Given the description of an element on the screen output the (x, y) to click on. 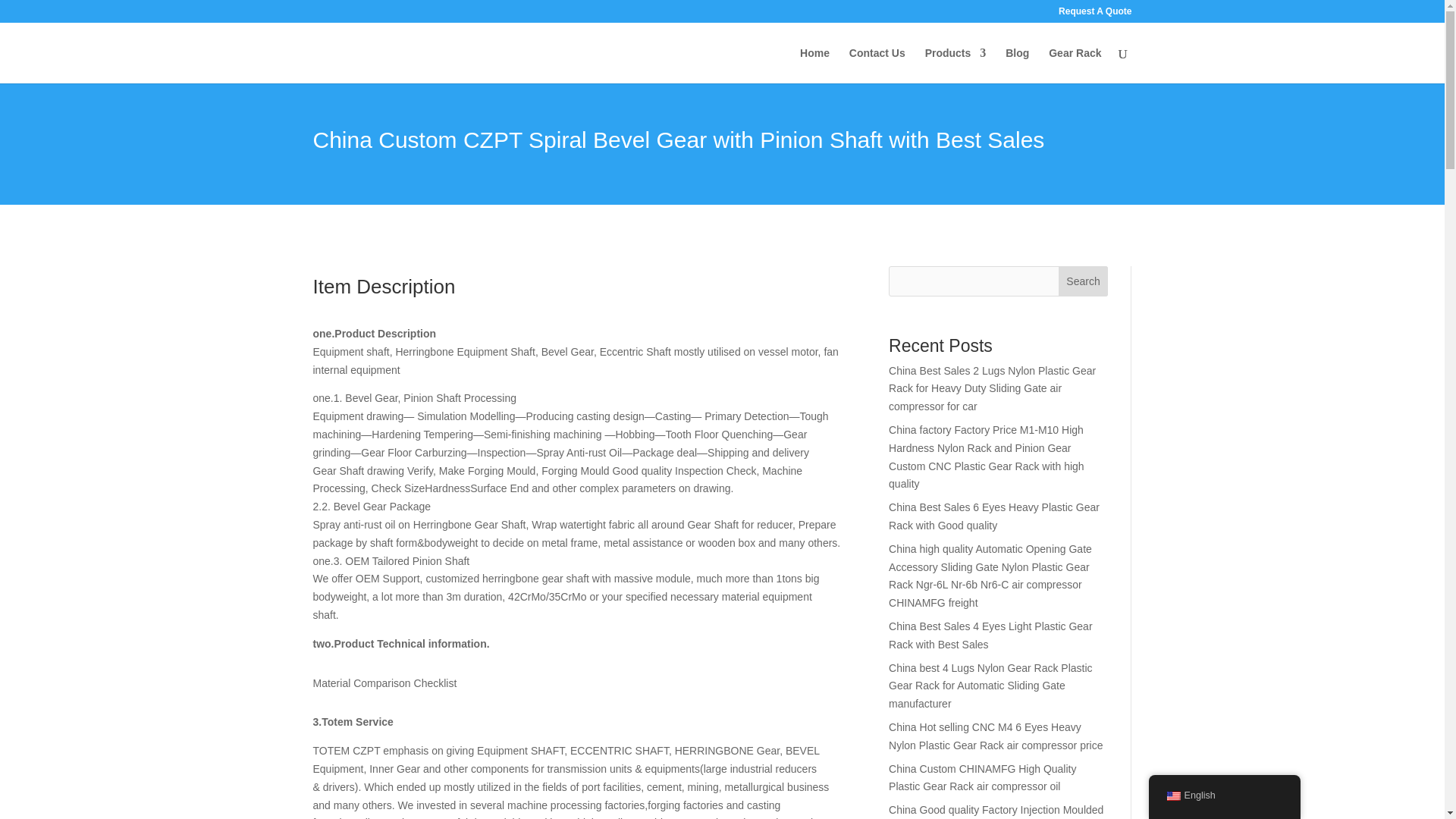
Contact Us (876, 65)
Products (955, 65)
Request A Quote (1094, 14)
Gear Rack (1074, 65)
English (1172, 795)
